Given the description of an element on the screen output the (x, y) to click on. 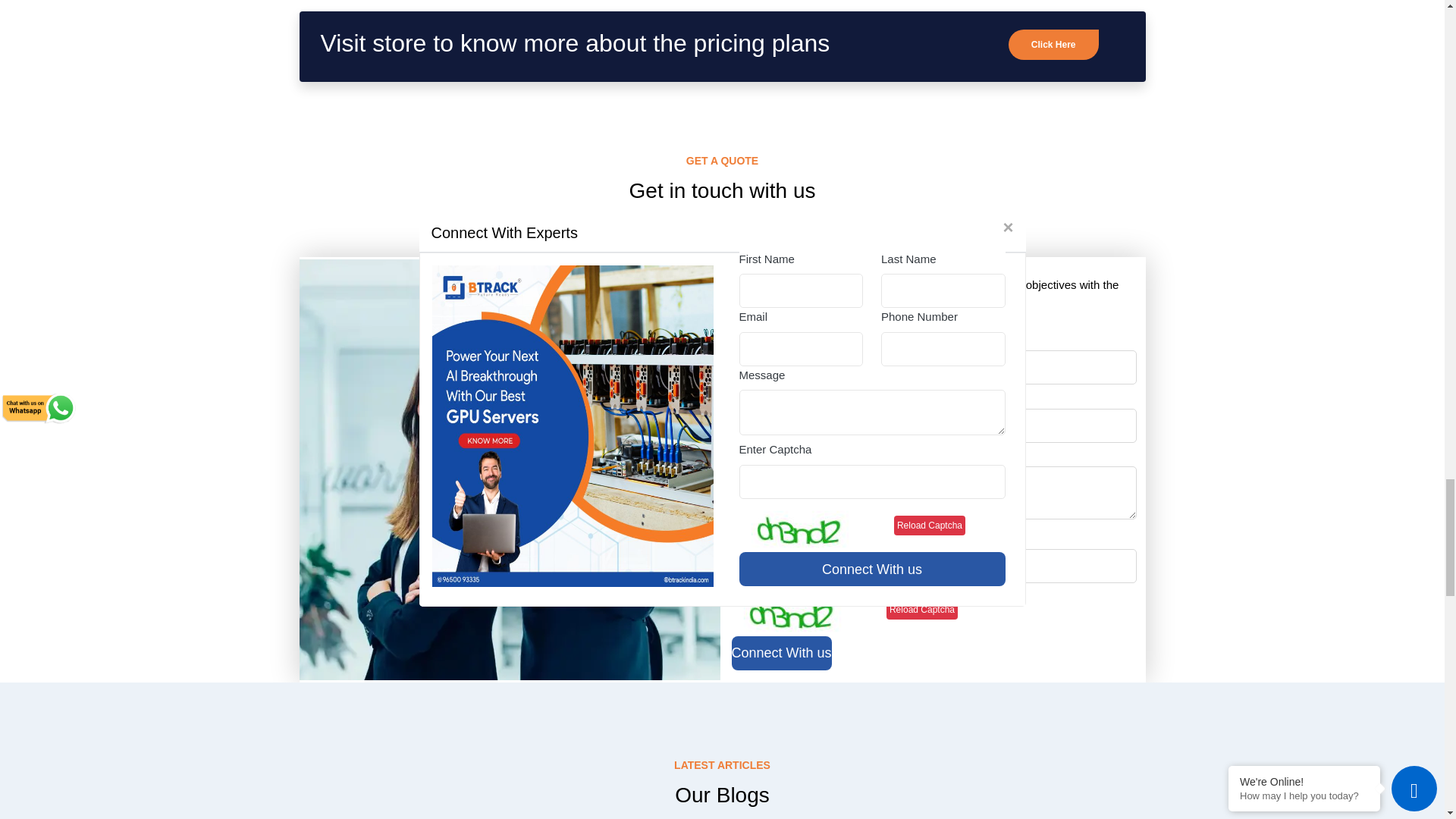
Submit (780, 653)
